Given the description of an element on the screen output the (x, y) to click on. 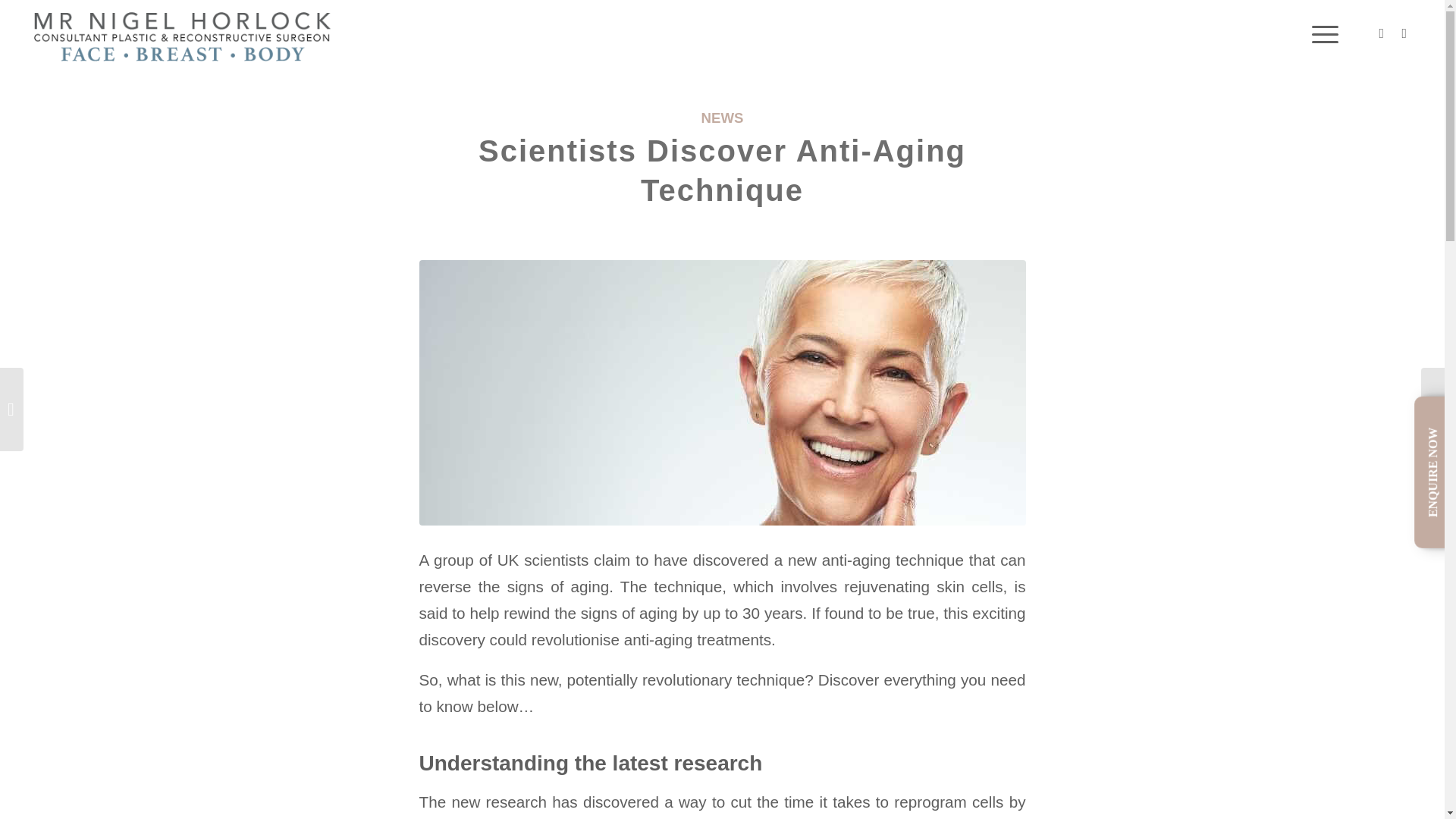
Mail (1404, 33)
Facebook (1381, 33)
Scientists Discover Anti-Aging Technique (722, 170)
NEWS (722, 117)
Permanent Link: Scientists Discover Anti-Aging Technique (722, 170)
